Given the description of an element on the screen output the (x, y) to click on. 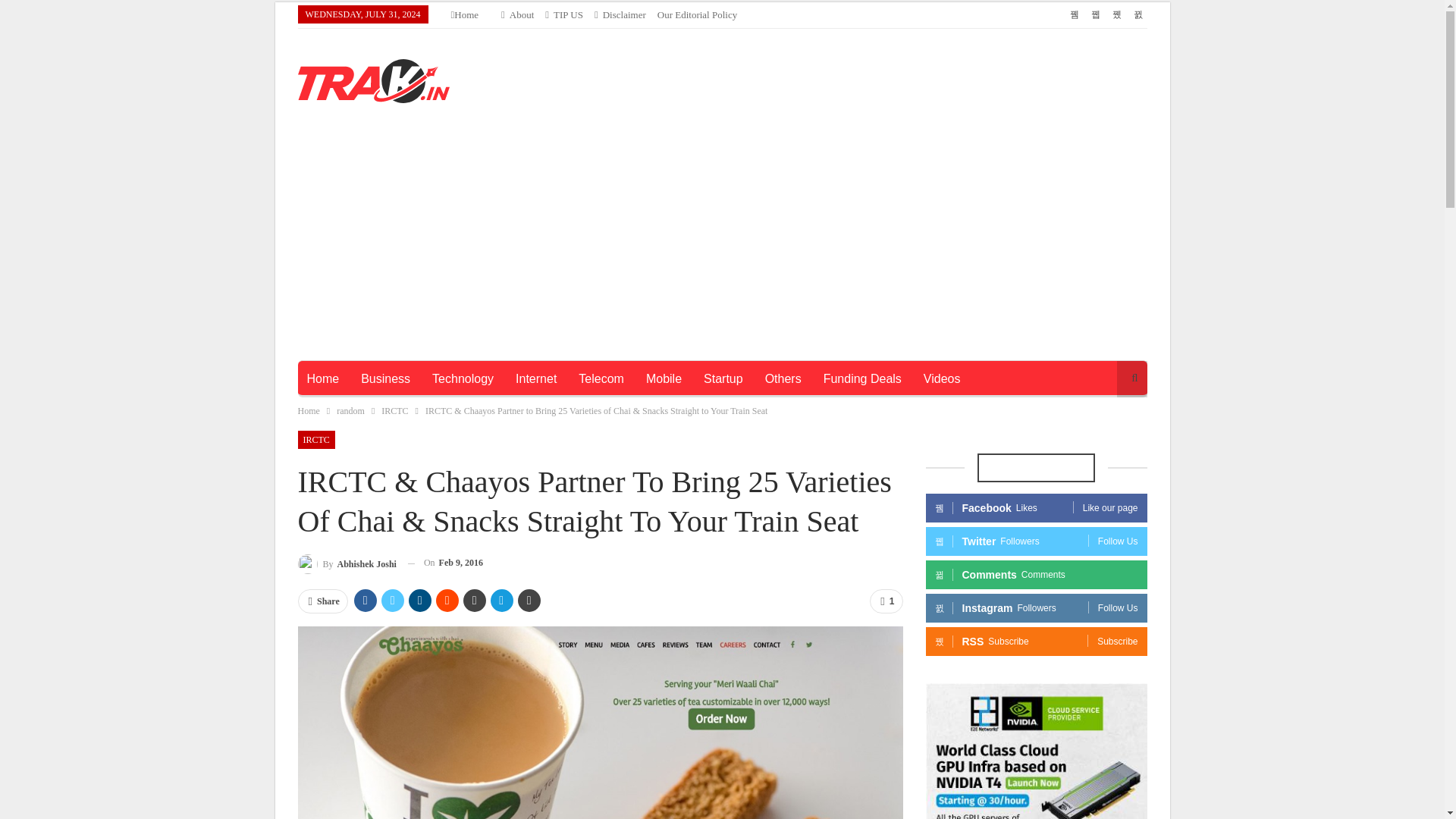
Business (385, 151)
Technology (462, 151)
1 (885, 373)
Home (307, 183)
IRCTC (394, 183)
Funding Deals (862, 151)
Disclaimer (614, 14)
Others (782, 151)
Disclaimer (614, 14)
Home (322, 151)
Startup (723, 151)
Get in Touch (557, 14)
Browse Author Articles (346, 335)
IRCTC (315, 212)
